Given the description of an element on the screen output the (x, y) to click on. 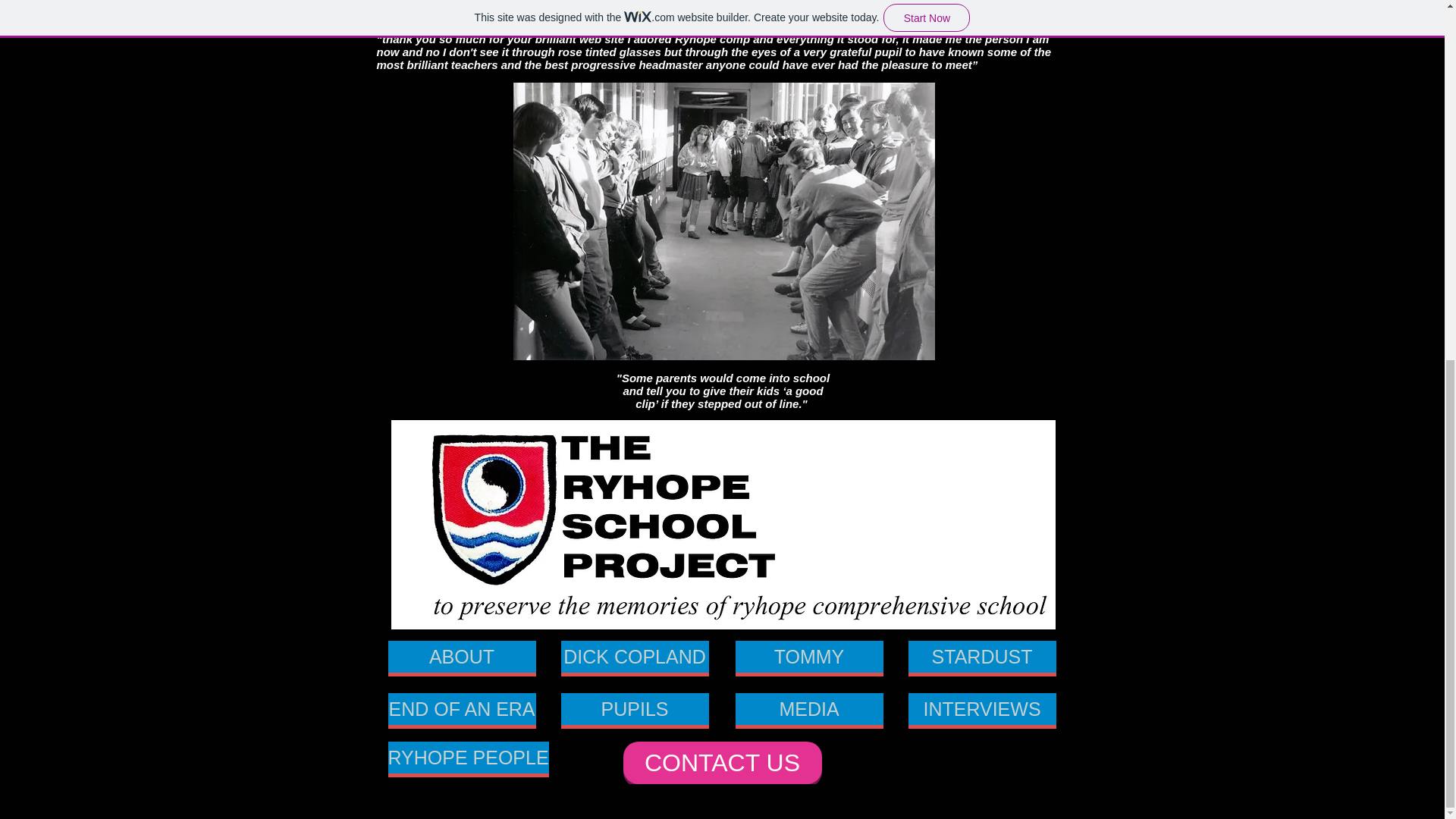
STARDUST (982, 656)
CONTACT US (722, 762)
RYHOPE PEOPLE (468, 757)
DICK COPLAND (634, 656)
PUPILS (634, 708)
MEDIA (809, 708)
ABOUT (461, 656)
INTERVIEWS (982, 708)
END OF AN ERA (461, 708)
Twitter Follow (911, 762)
TOMMY (809, 656)
